Given the description of an element on the screen output the (x, y) to click on. 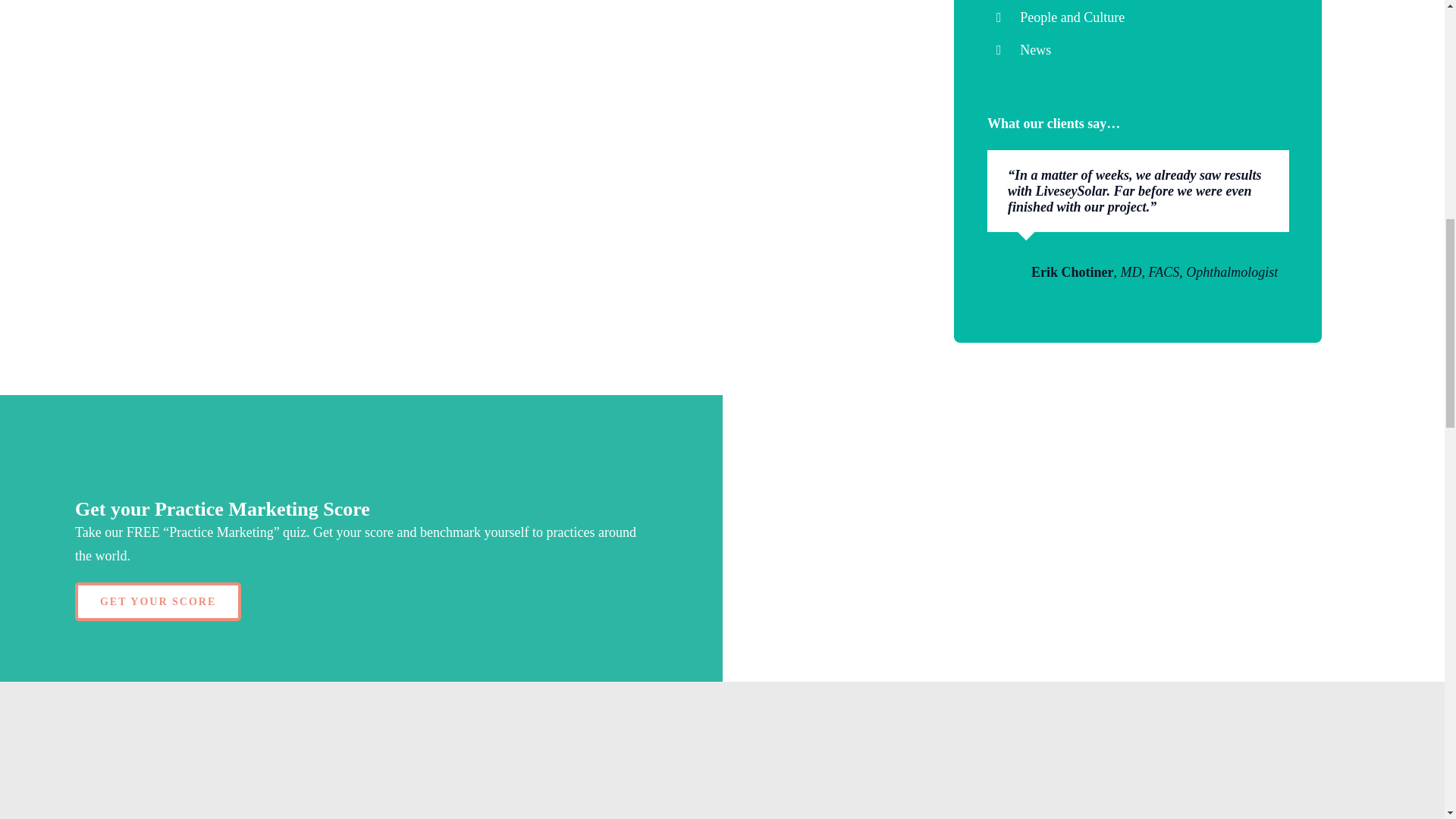
People and Culture (1072, 17)
News (1035, 49)
GET YOUR SCORE (158, 601)
